Given the description of an element on the screen output the (x, y) to click on. 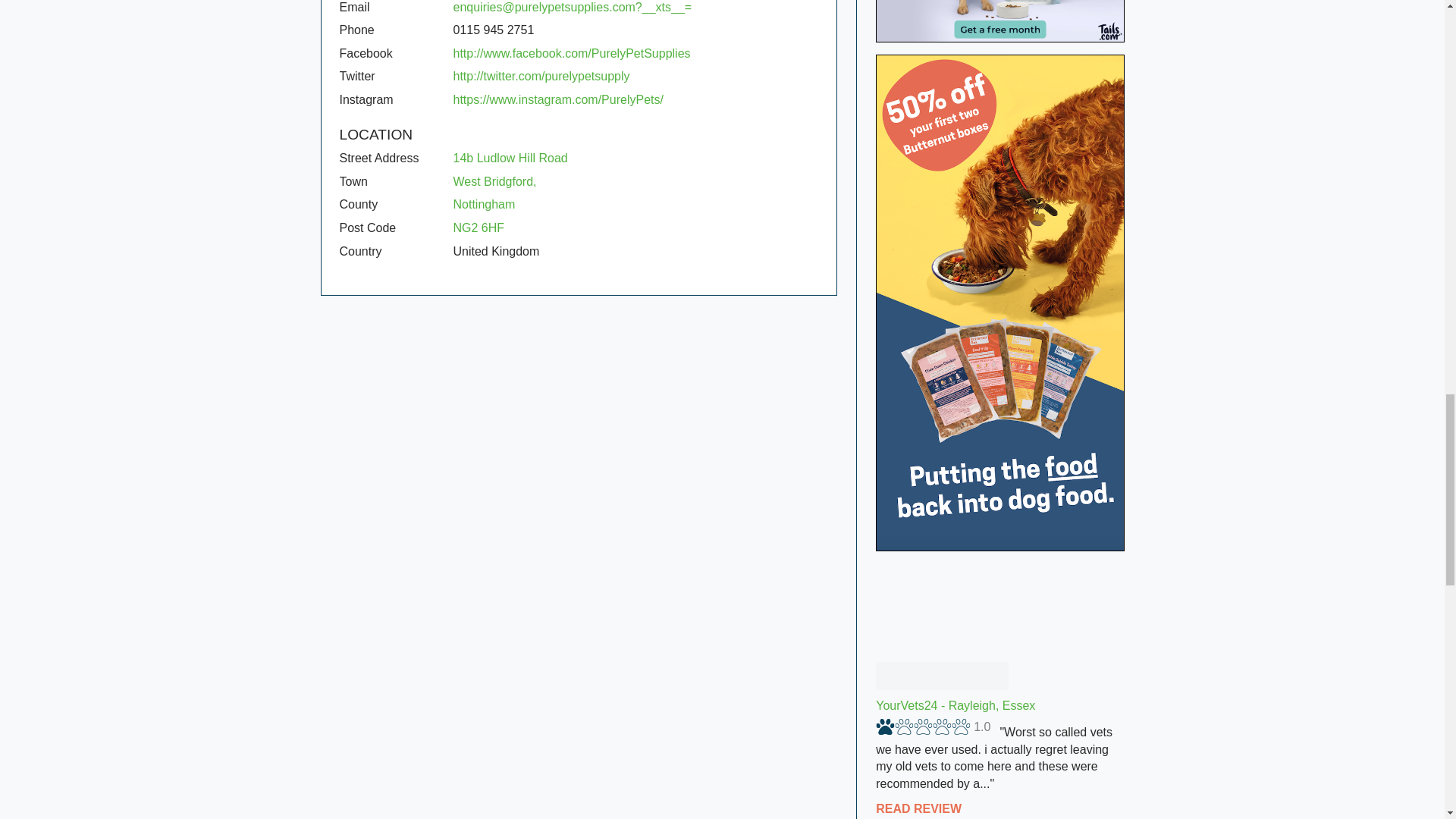
User rating (933, 727)
